Given the description of an element on the screen output the (x, y) to click on. 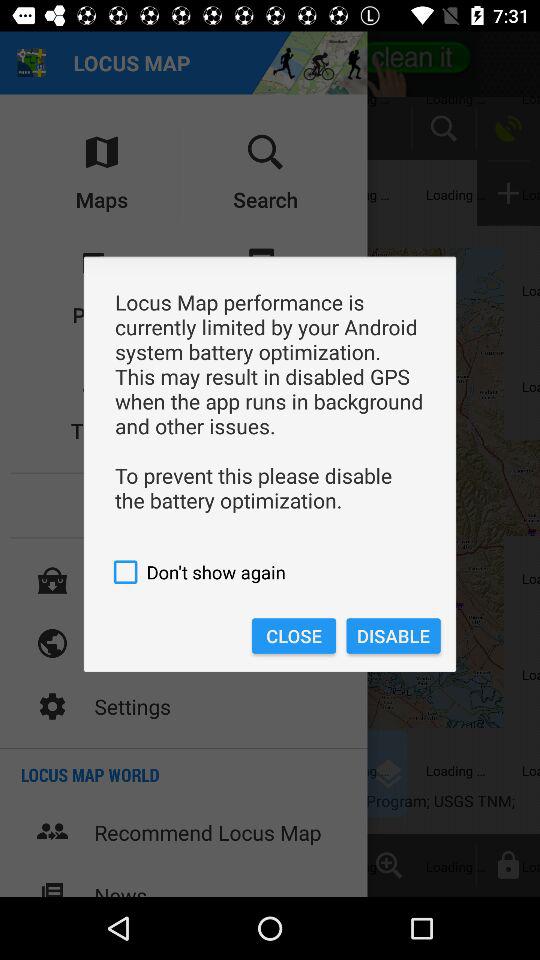
click the icon to the left of disable icon (293, 635)
